Given the description of an element on the screen output the (x, y) to click on. 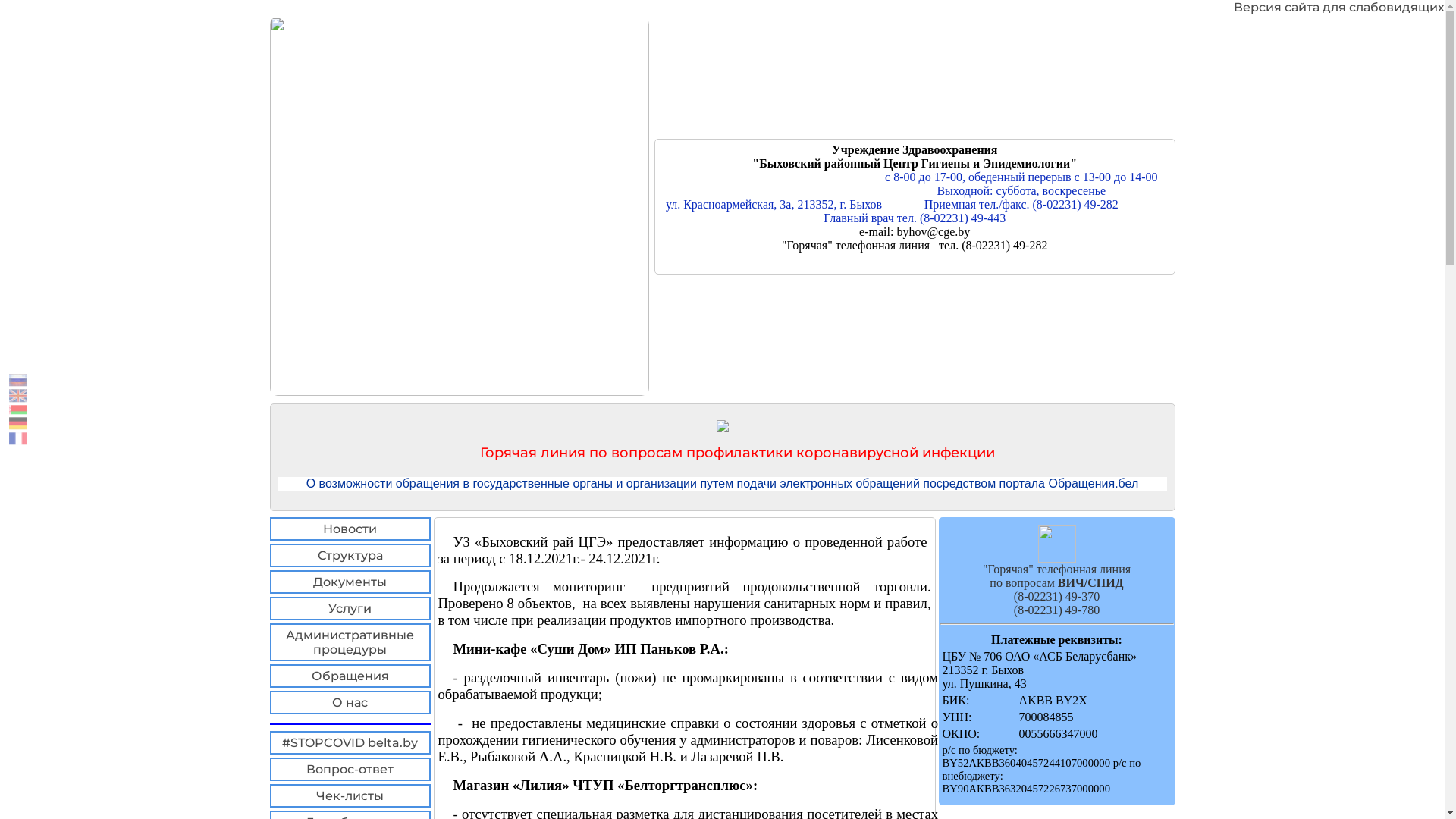
#STOPCOVID belta.by Element type: text (349, 742)
